Given the description of an element on the screen output the (x, y) to click on. 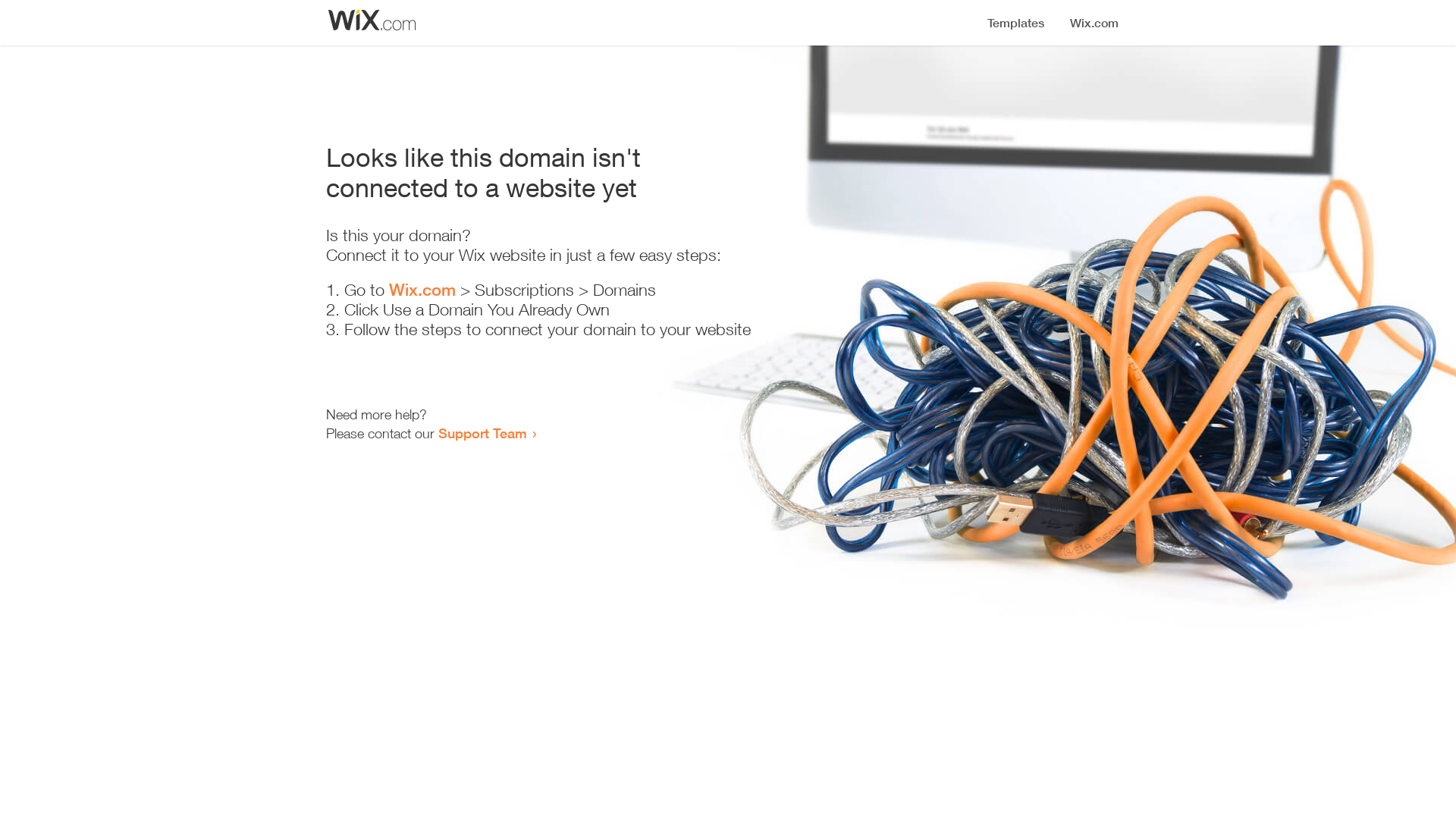
Wix.com Element type: text (422, 289)
Support Team Element type: text (482, 432)
